Given the description of an element on the screen output the (x, y) to click on. 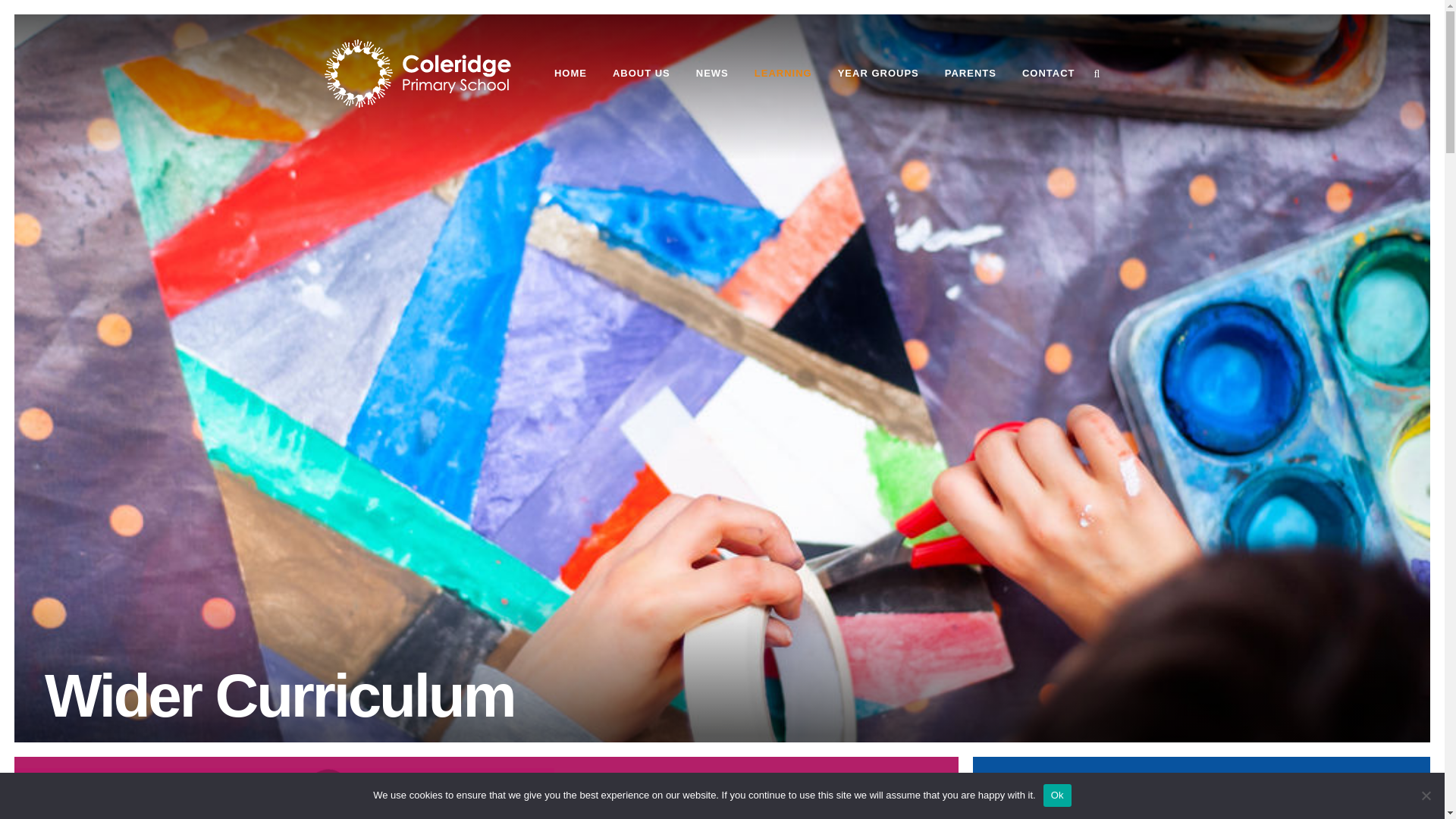
No (1425, 795)
